Given the description of an element on the screen output the (x, y) to click on. 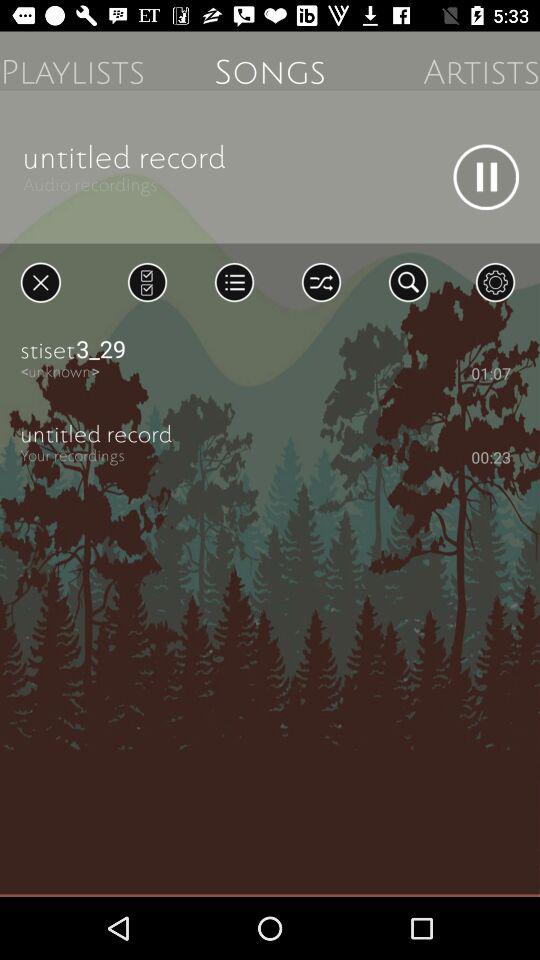
menu icon (234, 282)
